Given the description of an element on the screen output the (x, y) to click on. 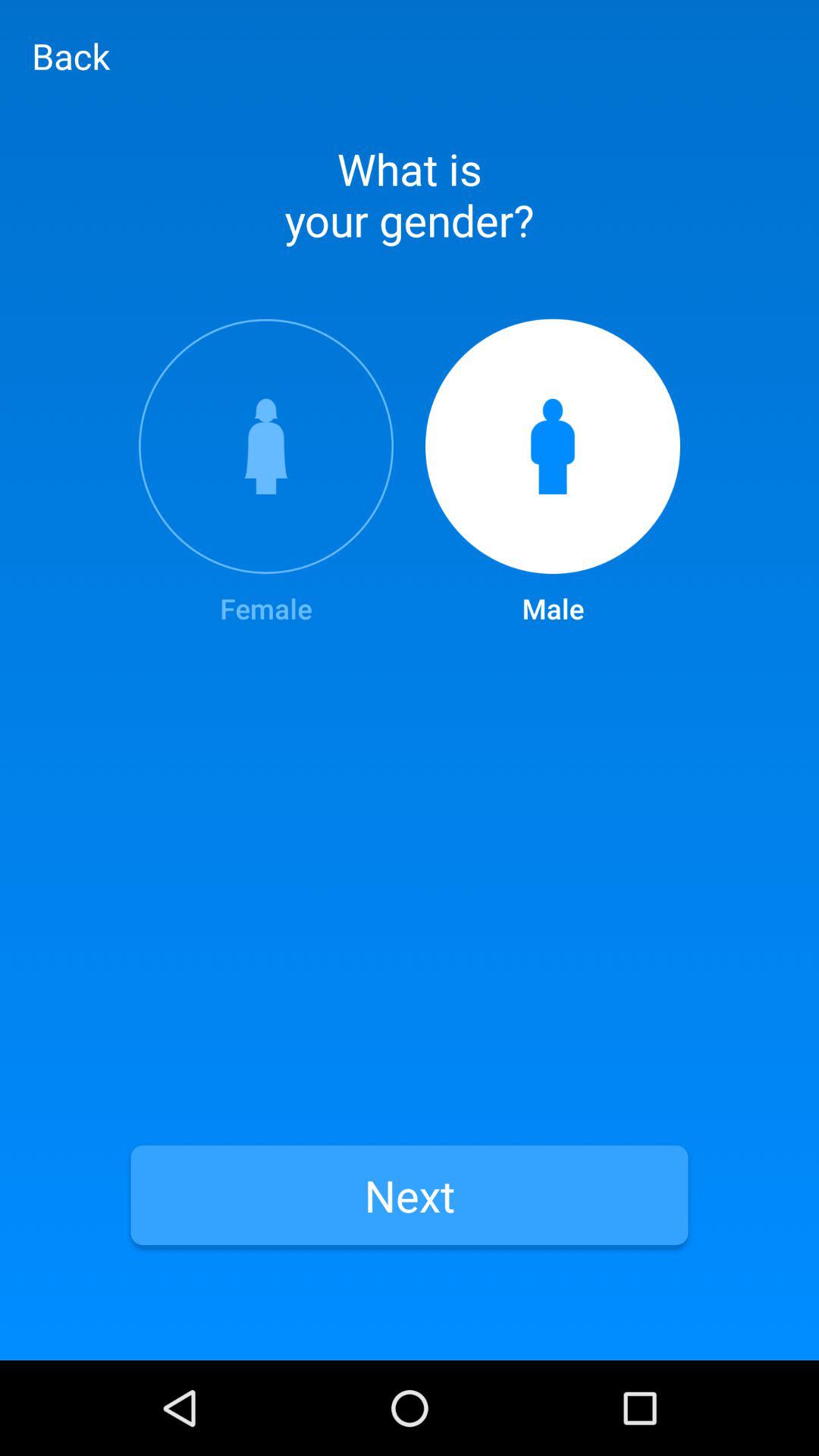
tap icon above the next item (265, 473)
